Given the description of an element on the screen output the (x, y) to click on. 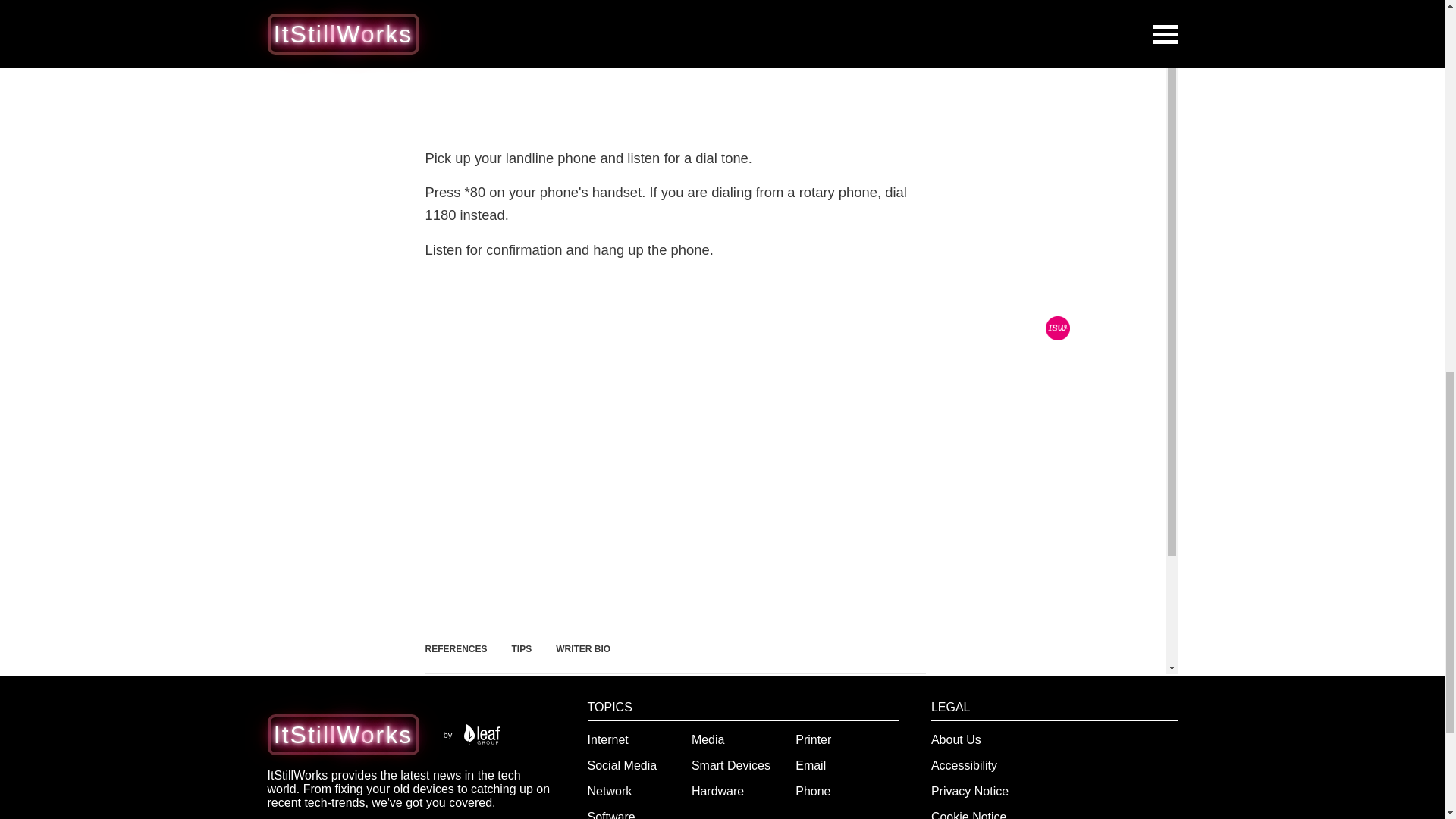
Smart Devices (730, 765)
Cookie Notice (969, 814)
Software (611, 814)
Email (809, 765)
Social Media (623, 765)
Network (609, 790)
Hardware (717, 790)
Printer (812, 739)
Internet (608, 739)
Privacy Notice (970, 790)
About Us (956, 739)
Media (708, 739)
ItStillWorks (342, 735)
Accessibility (964, 765)
Phone (811, 790)
